Given the description of an element on the screen output the (x, y) to click on. 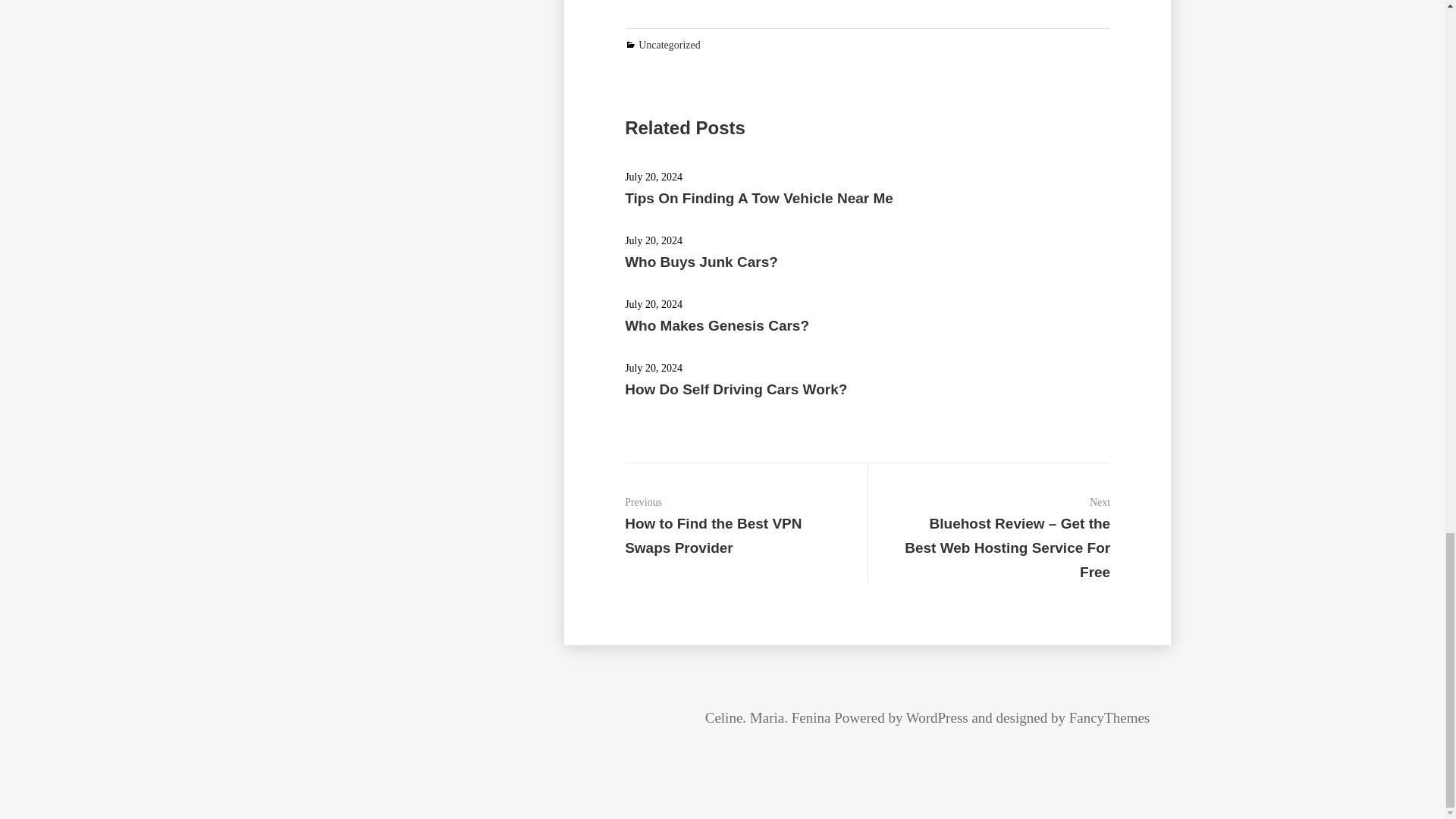
Celine. Maria. Fenina (767, 718)
Uncategorized (669, 44)
FancyThemes (1109, 718)
Who Buys Junk Cars? (700, 261)
Who Makes Genesis Cars? (716, 325)
WordPress (936, 718)
How Do Self Driving Cars Work? (735, 389)
Tips On Finding A Tow Vehicle Near Me (758, 198)
